Given the description of an element on the screen output the (x, y) to click on. 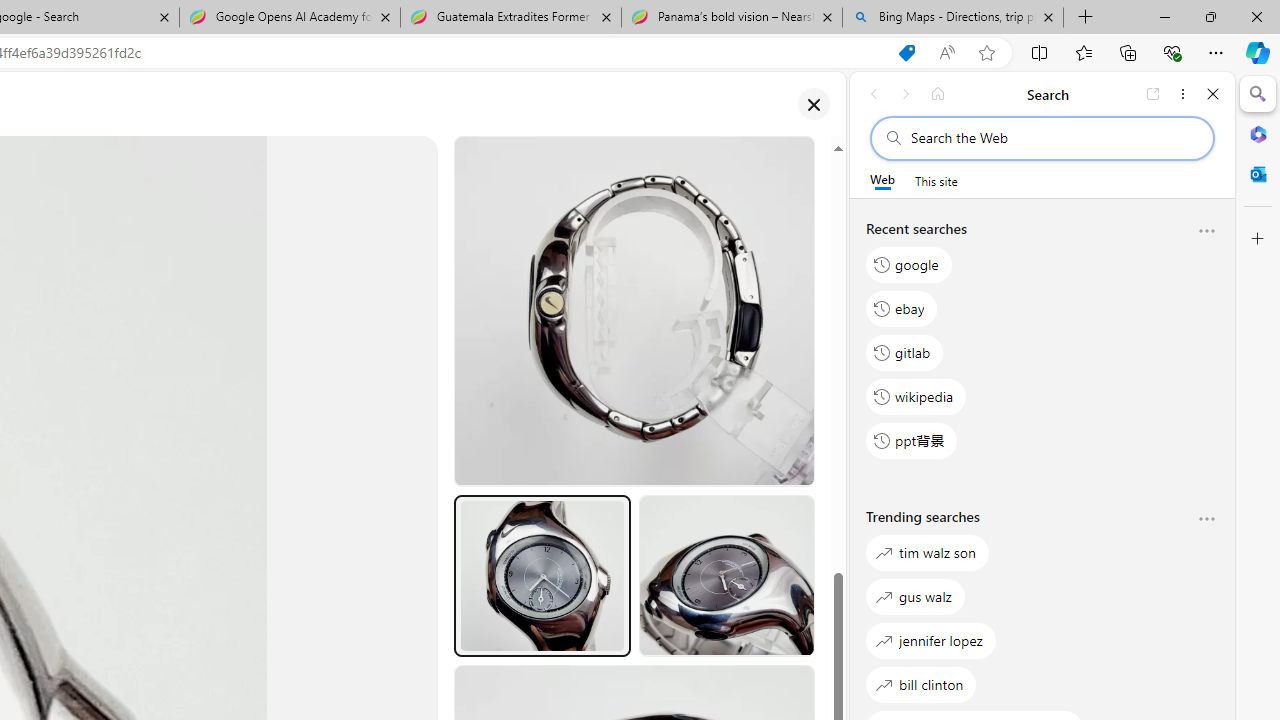
bill clinton (921, 684)
gitlab (905, 352)
Close image gallery dialog (813, 103)
Google Opens AI Academy for Startups - Nearshore Americas (290, 17)
tim walz son (927, 552)
